Given the description of an element on the screen output the (x, y) to click on. 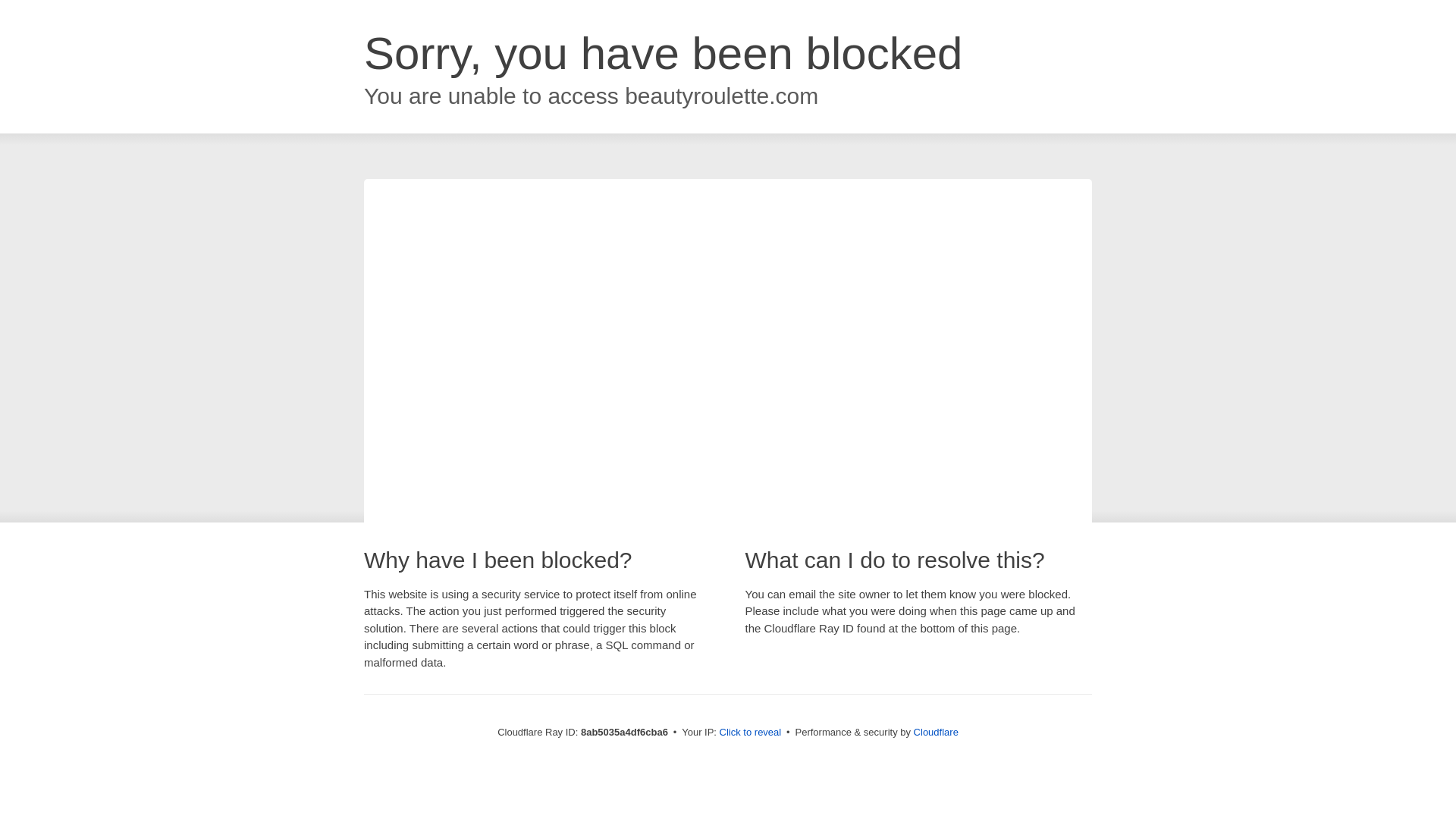
Click to reveal (750, 732)
Cloudflare (936, 731)
